Given the description of an element on the screen output the (x, y) to click on. 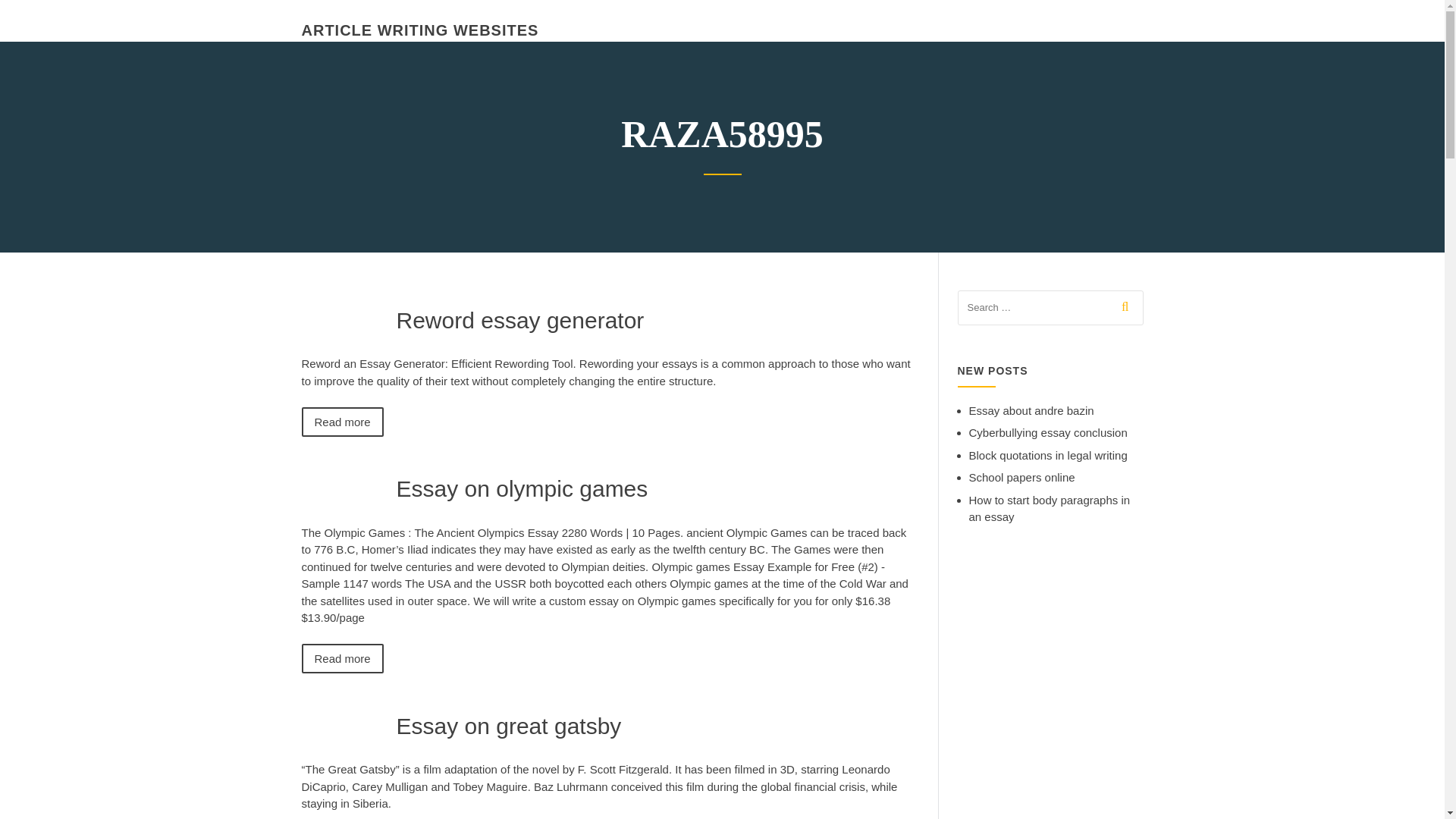
ARTICLE WRITING WEBSITES (419, 30)
Reword essay generator (519, 319)
Read more (342, 658)
Essay on great gatsby (508, 724)
Read more (342, 420)
Essay on olympic games (521, 488)
